Given the description of an element on the screen output the (x, y) to click on. 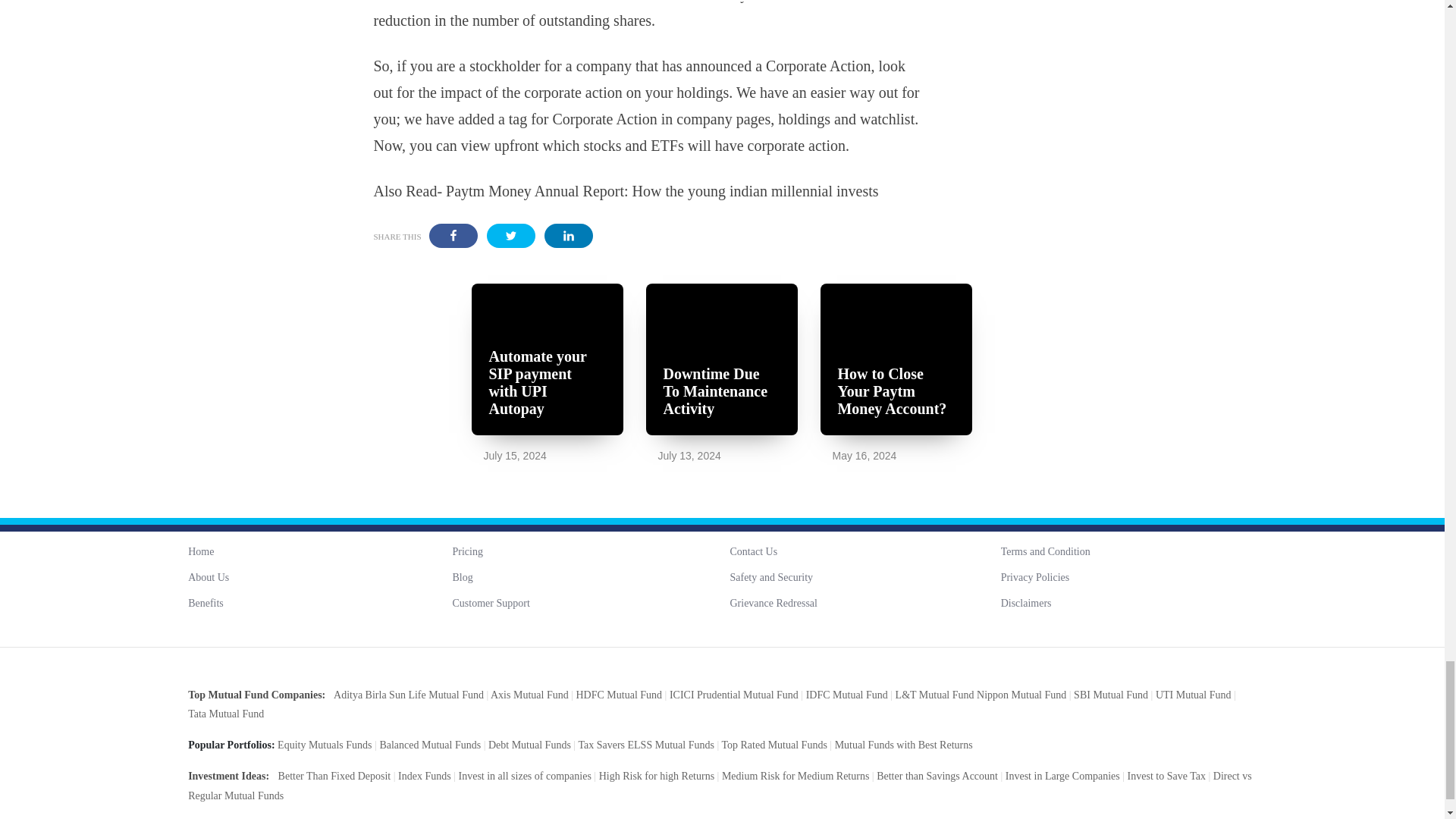
Share on Facebook (453, 235)
Share on LinkedIn (568, 235)
Share on Twitter (510, 235)
